Given the description of an element on the screen output the (x, y) to click on. 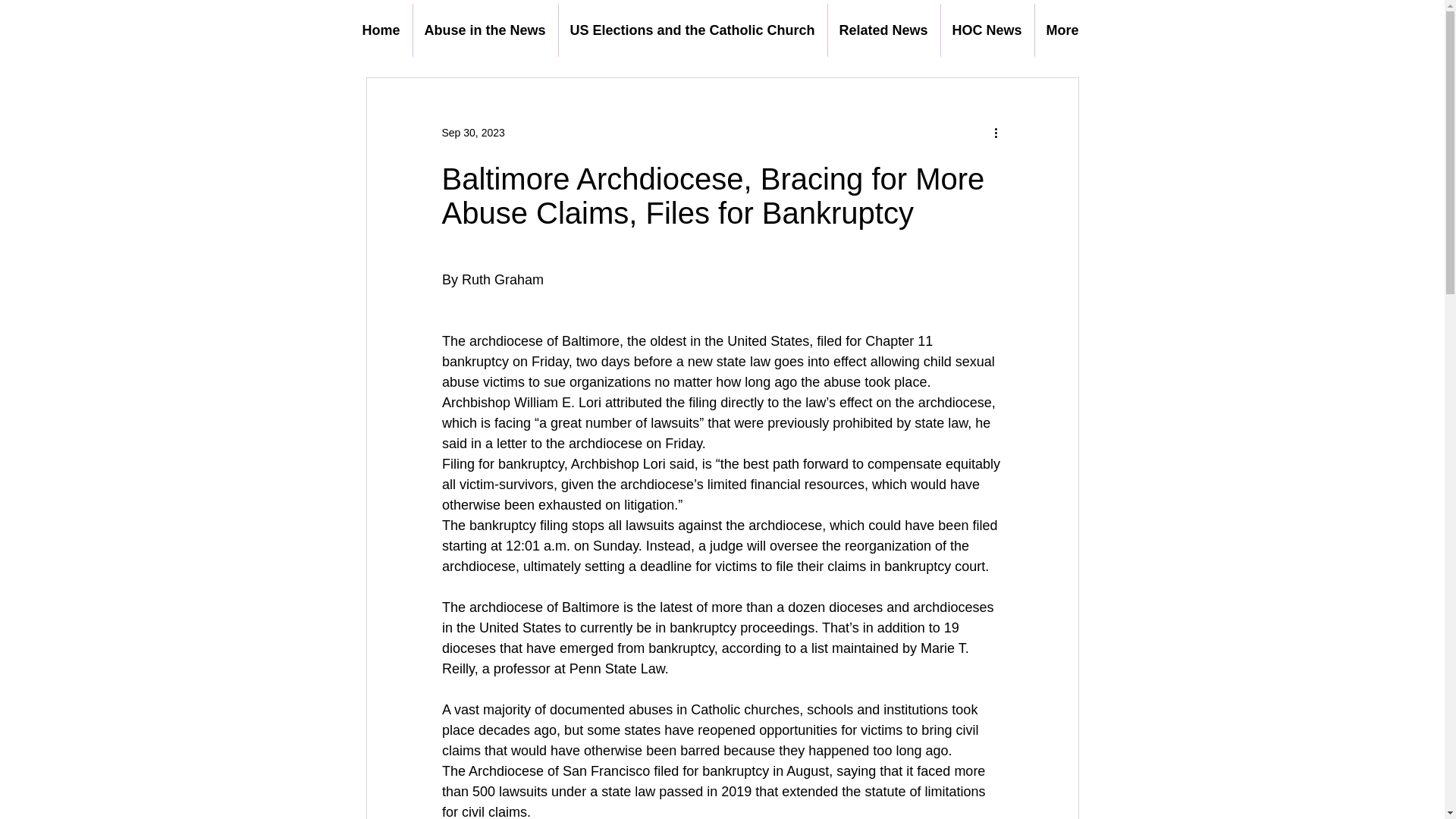
Ruth Graham (502, 279)
Home (381, 30)
HOC News (986, 30)
filed for bankruptcy in August (740, 770)
Sep 30, 2023 (472, 132)
US Elections and the Catholic Church (692, 30)
Abuse in the News (484, 30)
letter to the archdiocese (569, 443)
Related News (884, 30)
